Given the description of an element on the screen output the (x, y) to click on. 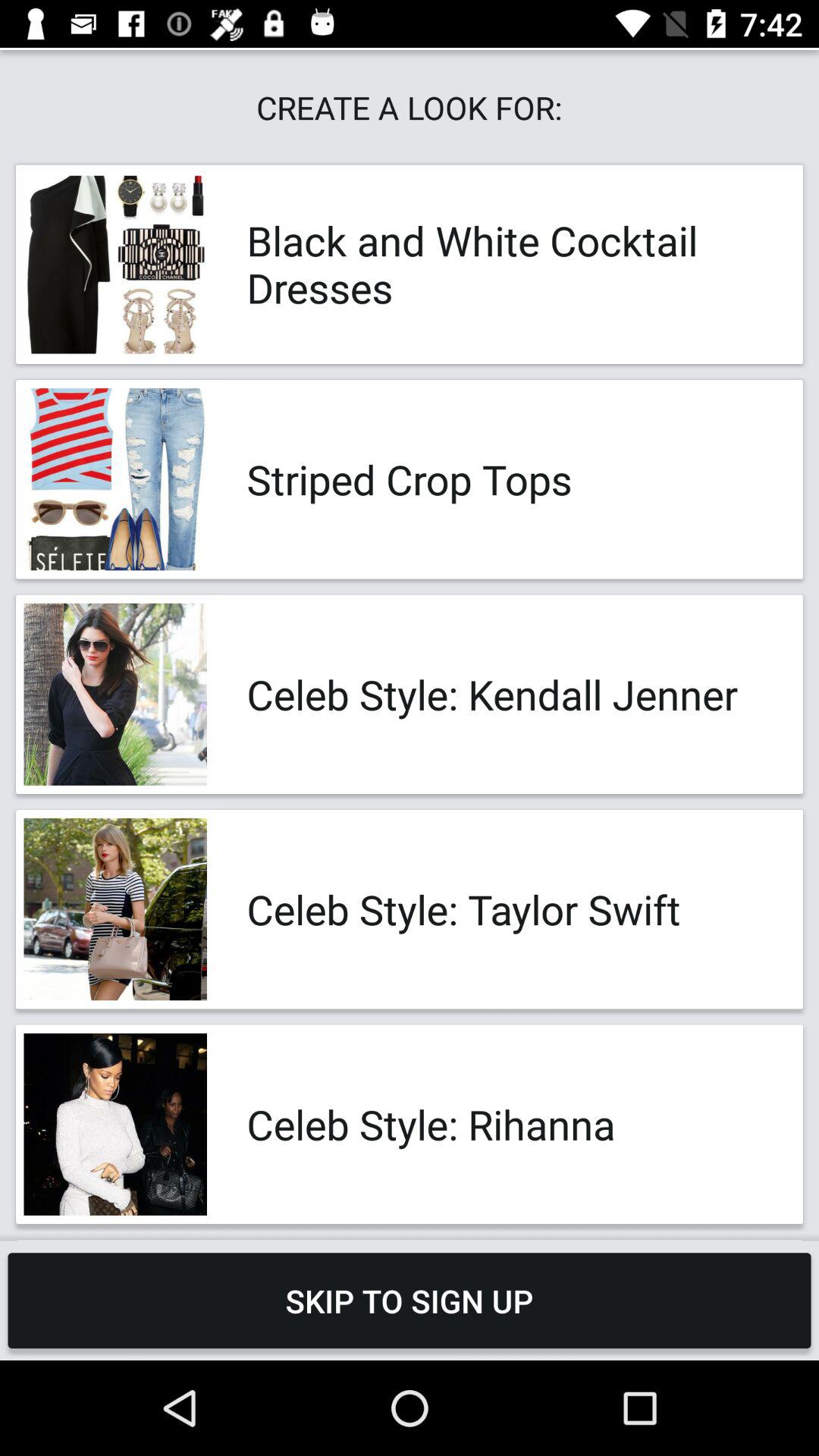
flip to create a look app (409, 107)
